Given the description of an element on the screen output the (x, y) to click on. 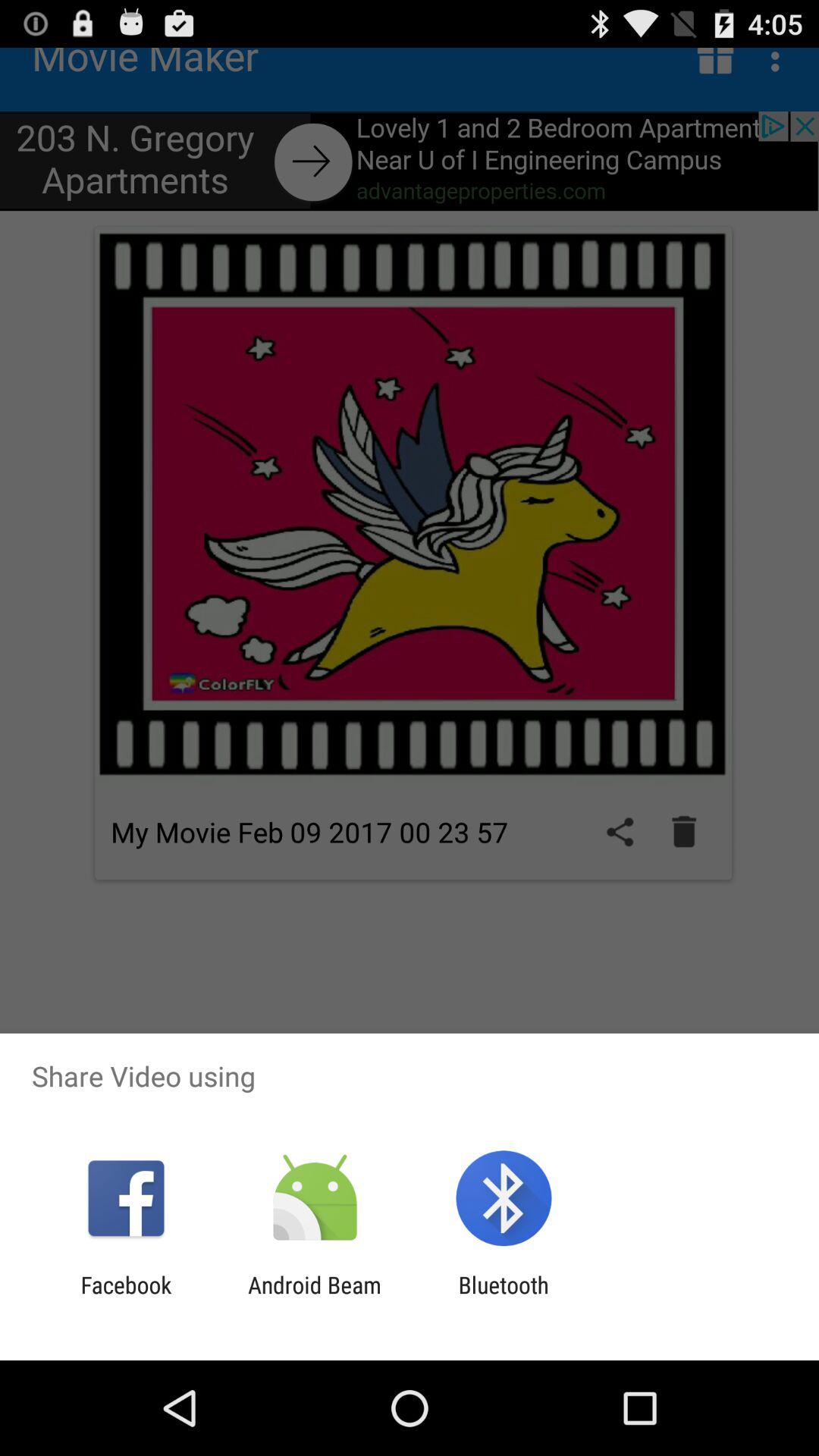
select item to the right of facebook icon (314, 1298)
